Given the description of an element on the screen output the (x, y) to click on. 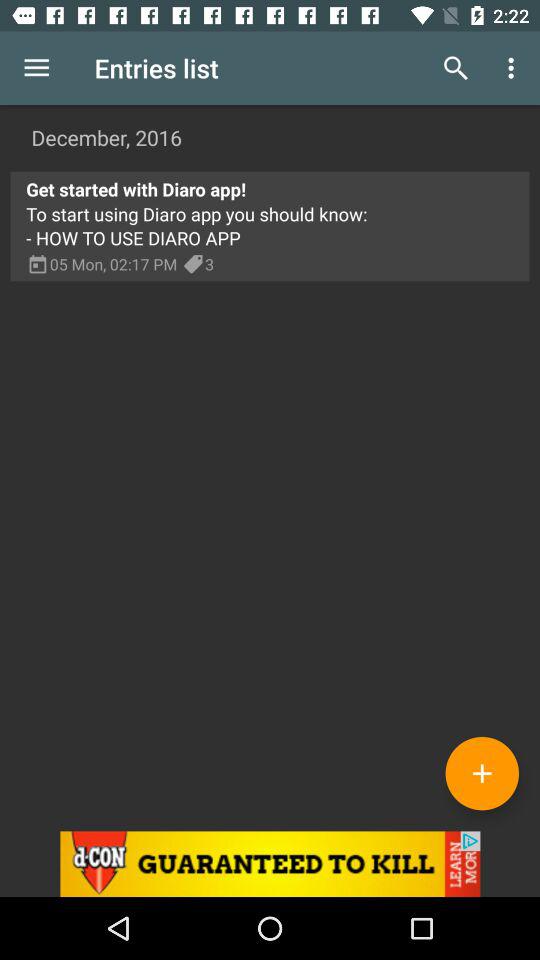
go to this advertiser 's site to see more (270, 864)
